Given the description of an element on the screen output the (x, y) to click on. 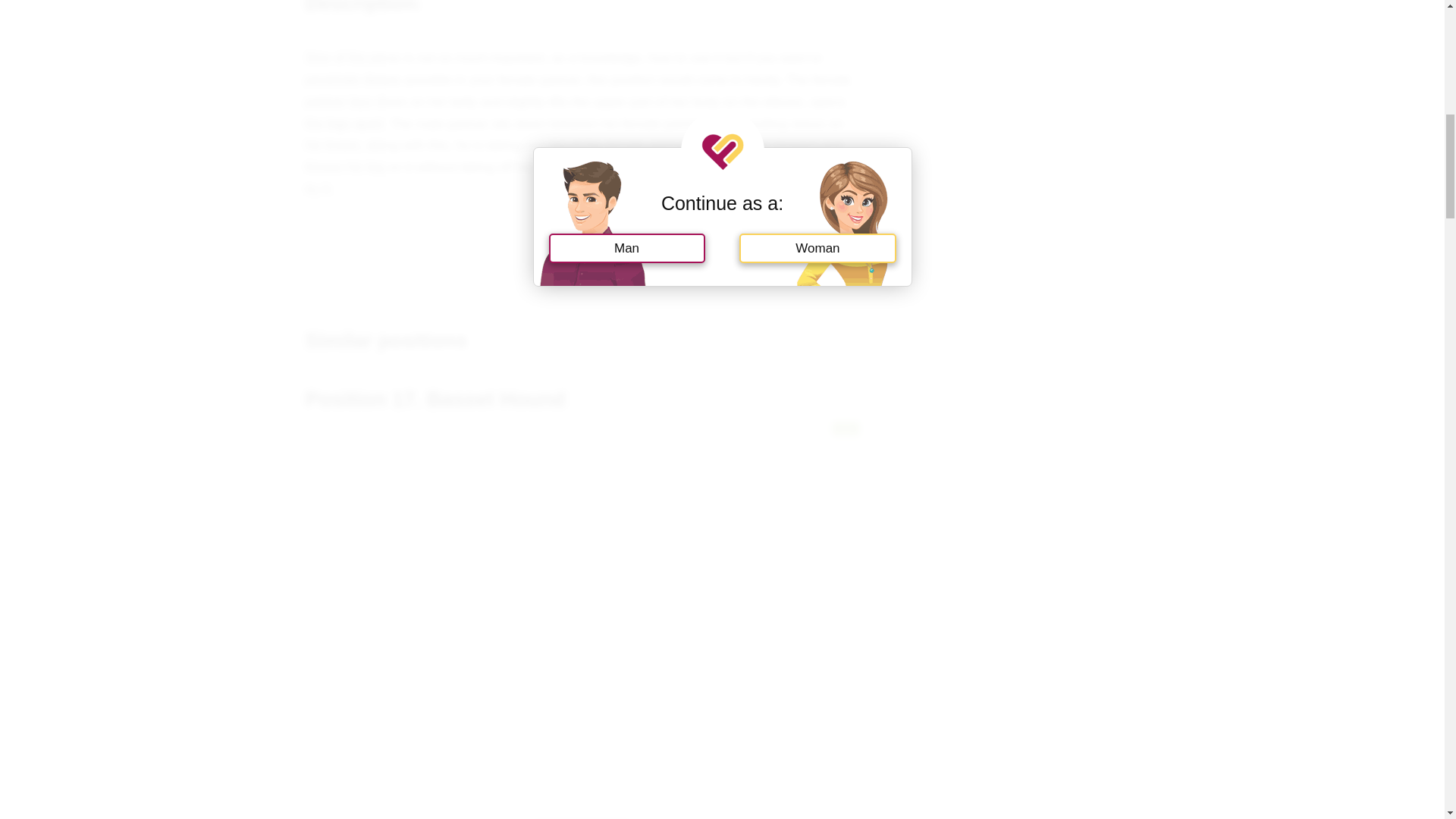
Position 17. Basset Hound (434, 398)
